Given the description of an element on the screen output the (x, y) to click on. 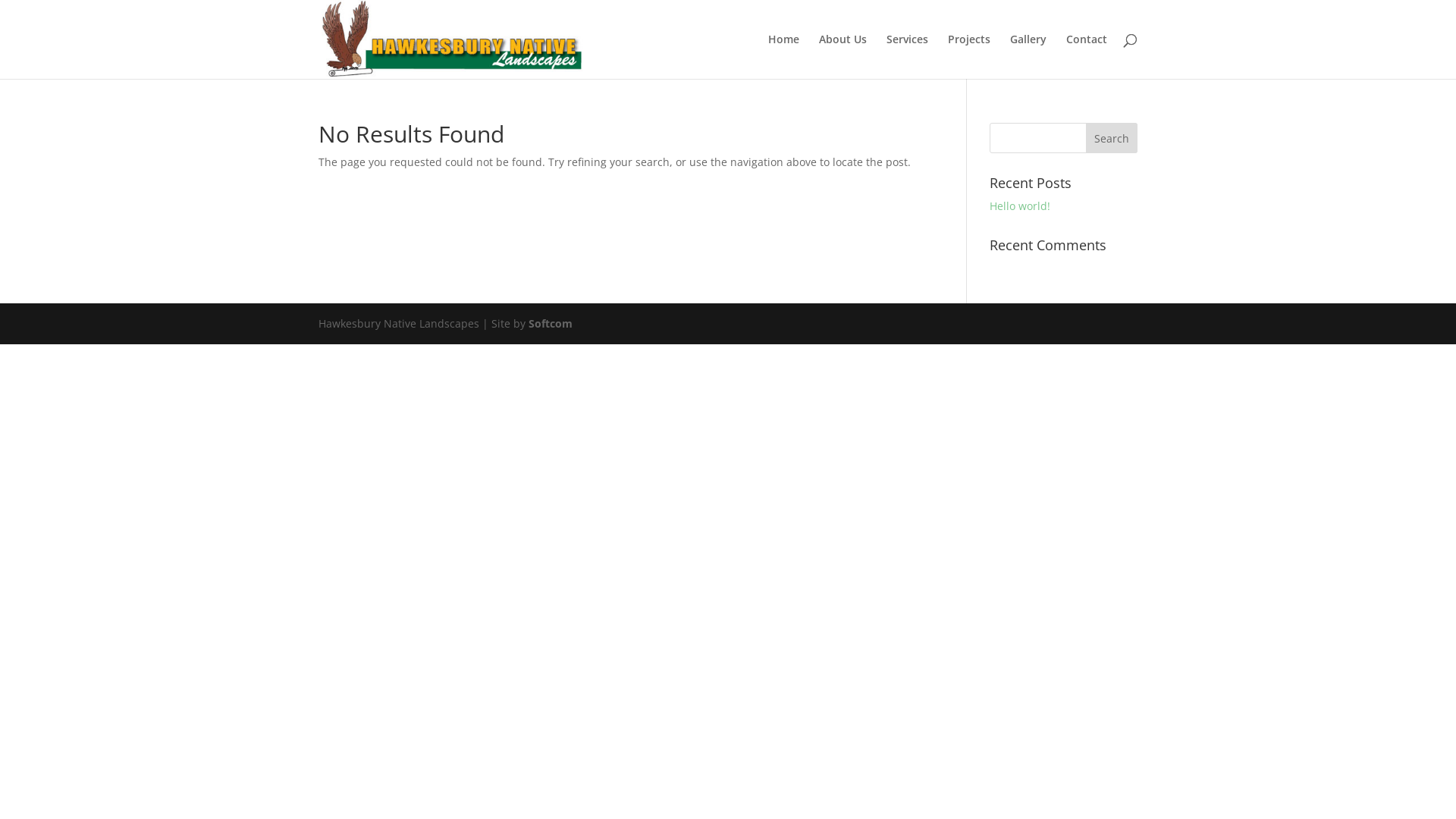
Contact Element type: text (1086, 56)
About Us Element type: text (842, 56)
Home Element type: text (783, 56)
Projects Element type: text (968, 56)
Services Element type: text (907, 56)
Gallery Element type: text (1028, 56)
Hello world! Element type: text (1019, 205)
Search Element type: text (1111, 137)
Softcom Element type: text (550, 323)
